Given the description of an element on the screen output the (x, y) to click on. 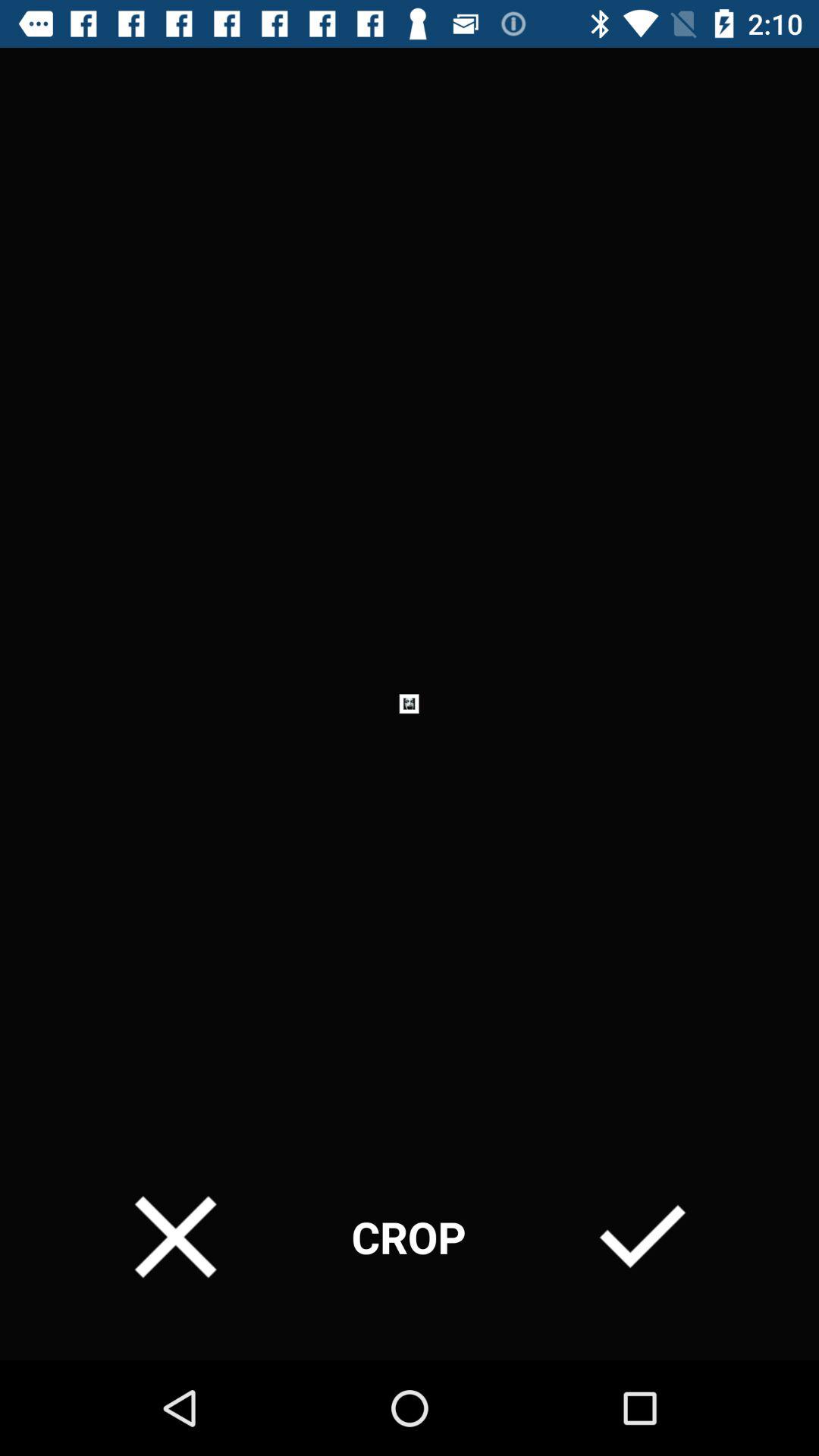
press the item next to crop (642, 1236)
